Given the description of an element on the screen output the (x, y) to click on. 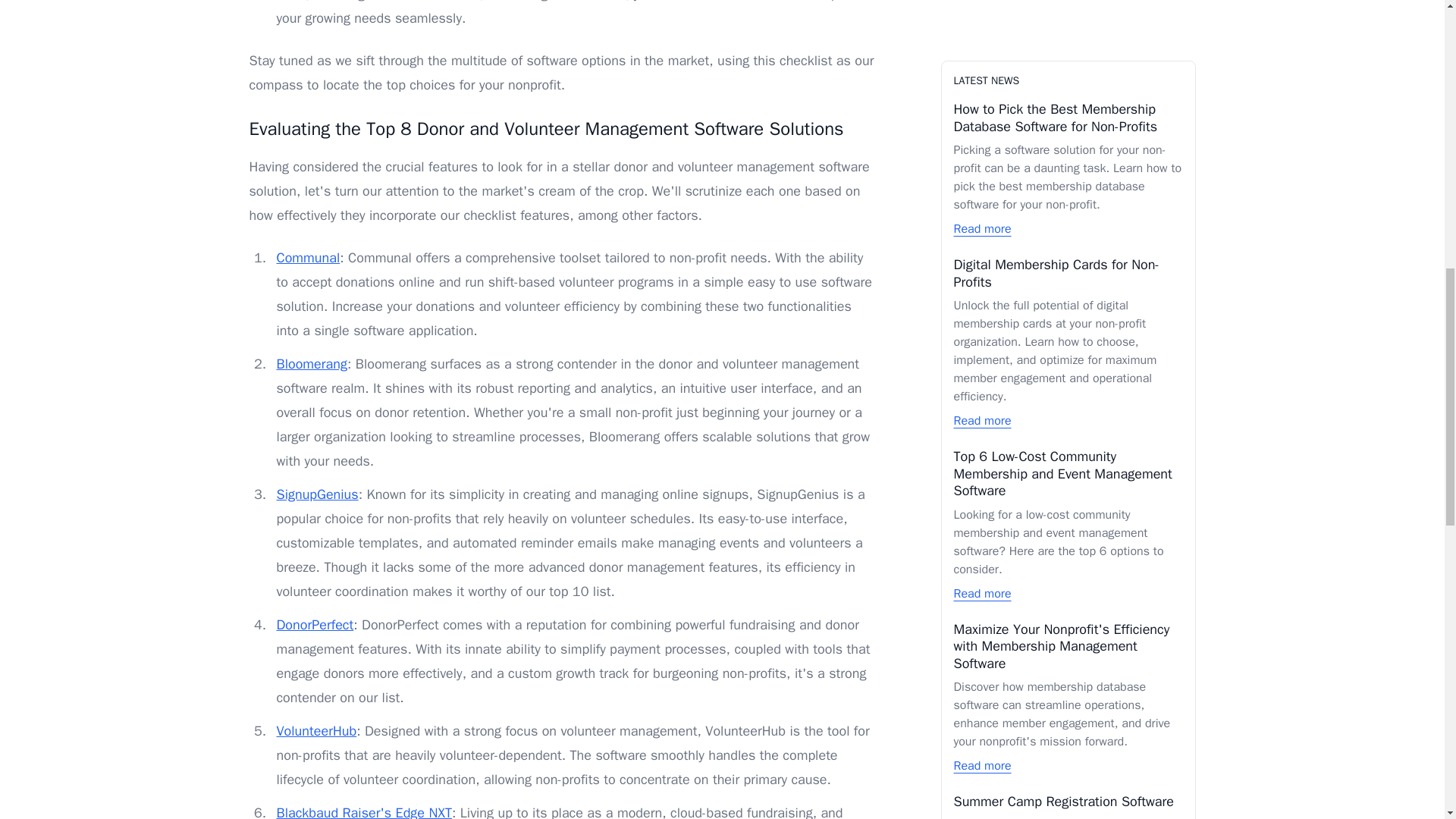
Read more (982, 104)
VolunteerHub (316, 730)
Bloomerang (311, 363)
SignupGenius (317, 494)
Communal (307, 257)
Blackbaud Raiser's Edge NXT (363, 811)
Read more (982, 315)
DonorPerfect (314, 624)
